Given the description of an element on the screen output the (x, y) to click on. 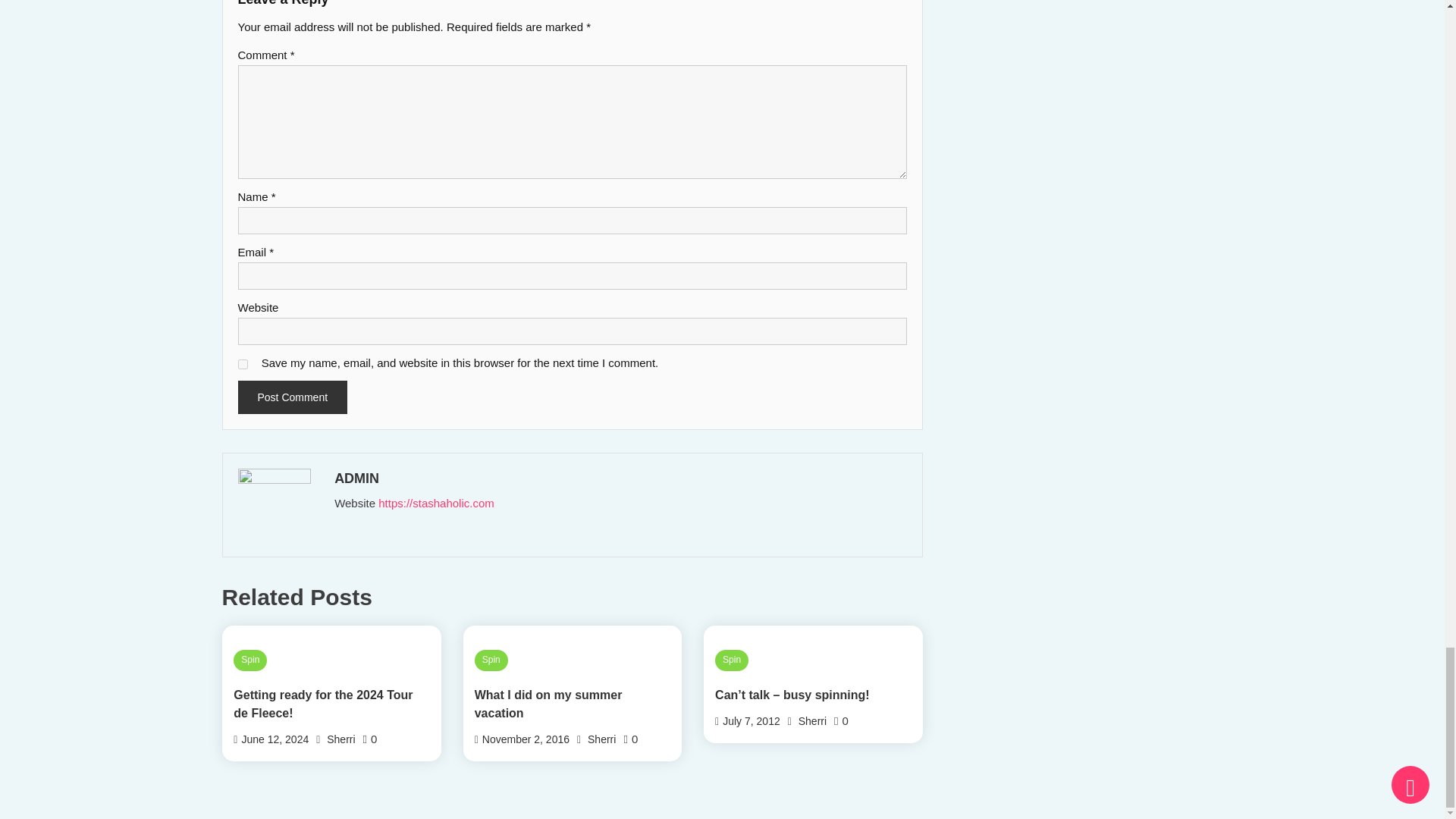
Posts by admin (618, 478)
yes (242, 364)
Post Comment (292, 397)
